Given the description of an element on the screen output the (x, y) to click on. 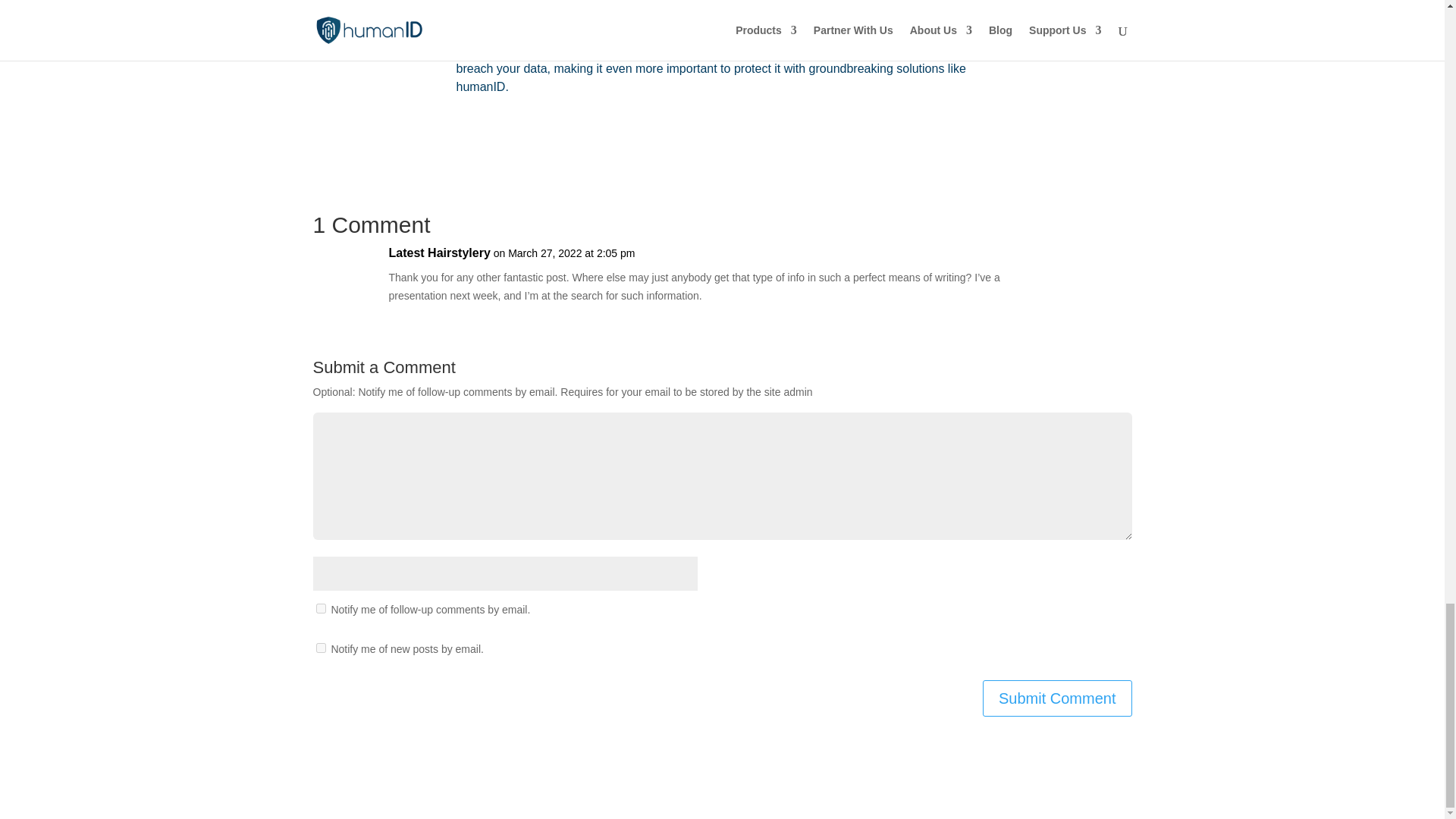
subscribe (319, 608)
subscribe (319, 647)
Submit Comment (1057, 698)
